Given the description of an element on the screen output the (x, y) to click on. 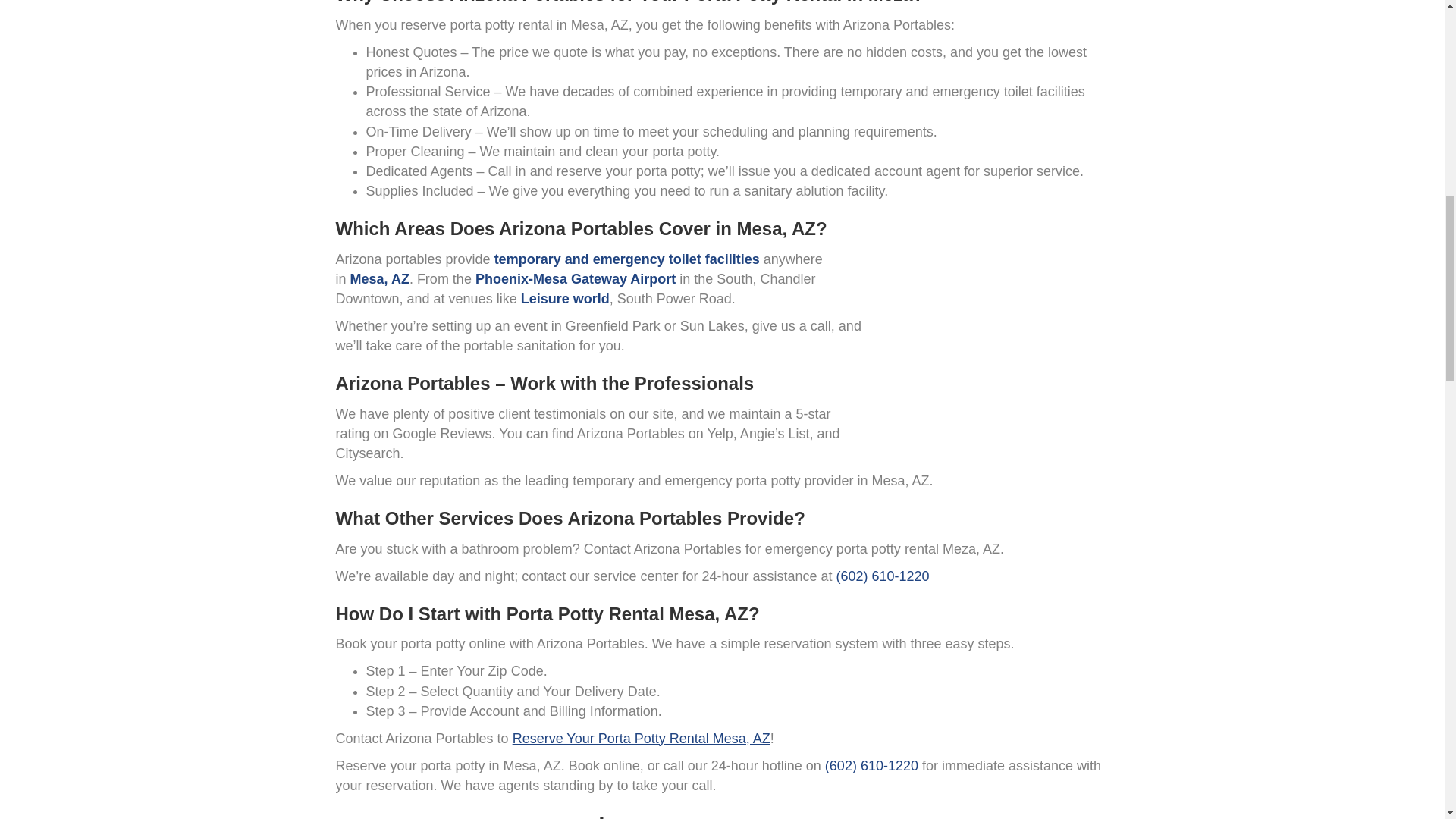
temporary and emergency toilet facilities (627, 258)
Phoenix-Mesa Gateway Airport (575, 278)
Mesa, AZ (379, 278)
Leisure world (565, 298)
